Given the description of an element on the screen output the (x, y) to click on. 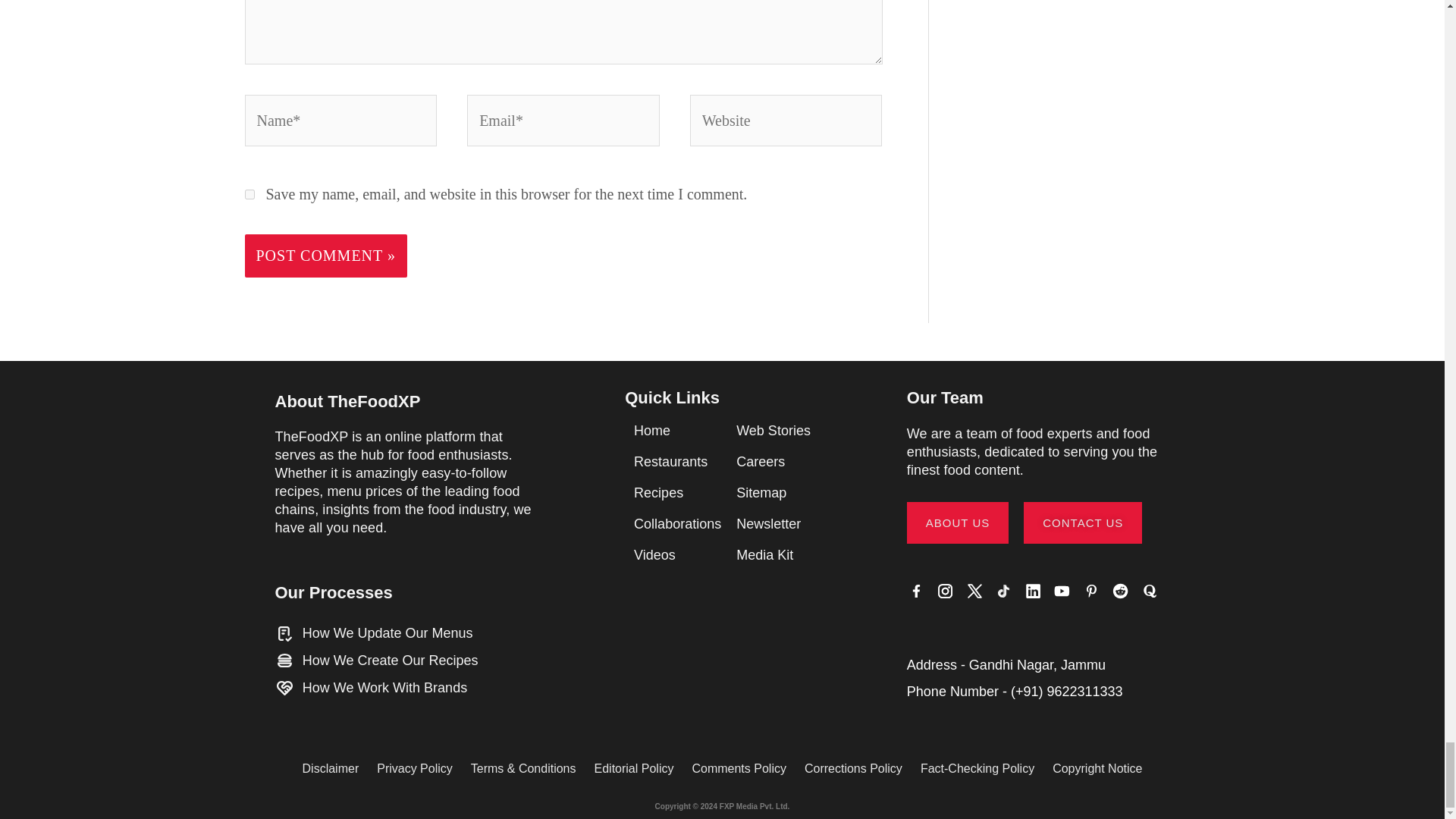
yes (248, 194)
